Given the description of an element on the screen output the (x, y) to click on. 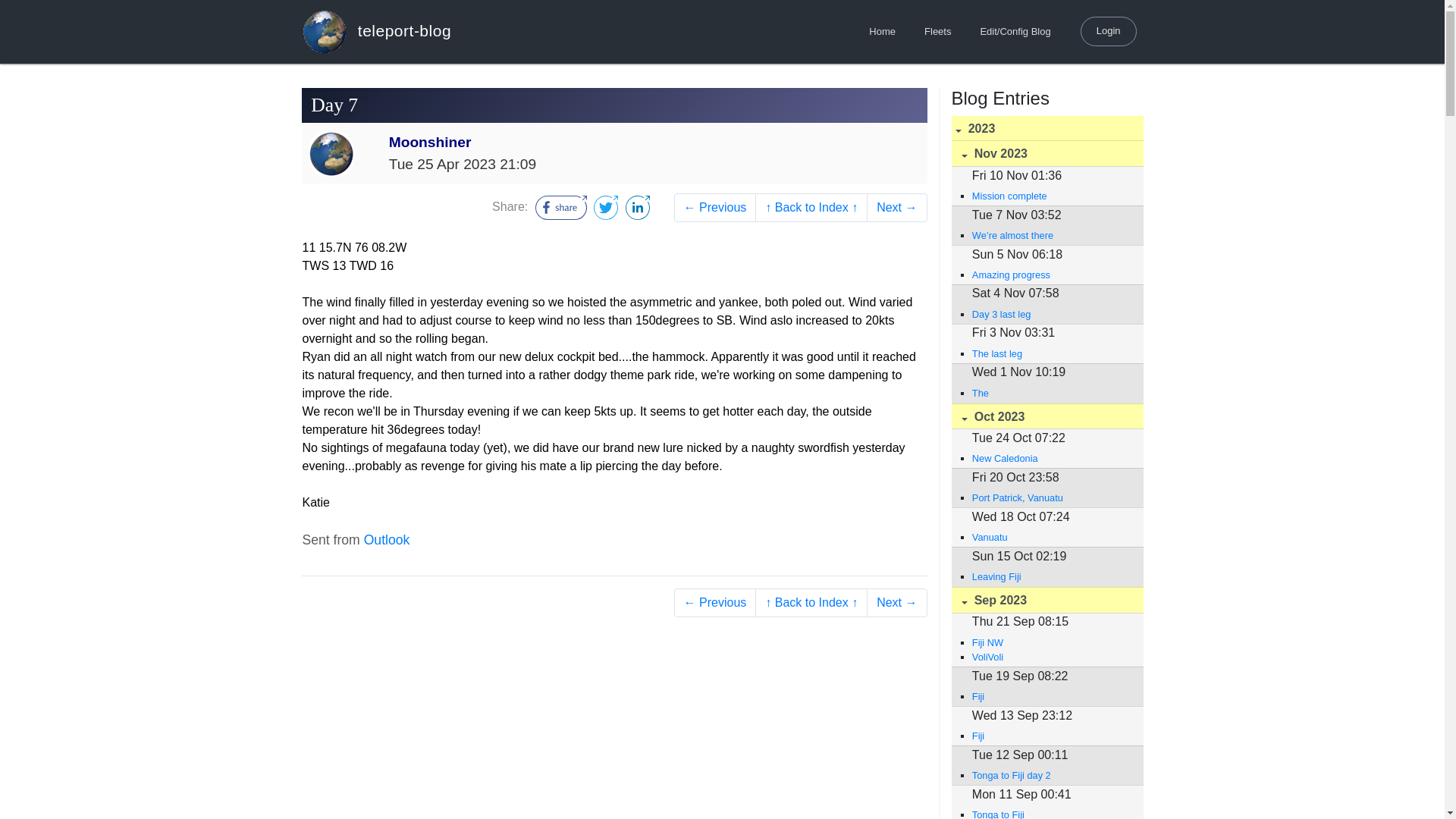
Leaving Fiji (1050, 576)
Fleets (937, 31)
Fiji (1050, 735)
Vanuatu (1050, 536)
Tonga to Fiji (1050, 813)
Outlook (387, 539)
Login (1108, 30)
Tonga to Fiji day 2 (1050, 775)
VoliVoli (1050, 657)
Mission complete (1050, 196)
Sep 2023 (1046, 600)
New Caledonia (1050, 458)
Amazing progress (1050, 274)
The last leg (1050, 353)
Day 3 last leg (1050, 314)
